Given the description of an element on the screen output the (x, y) to click on. 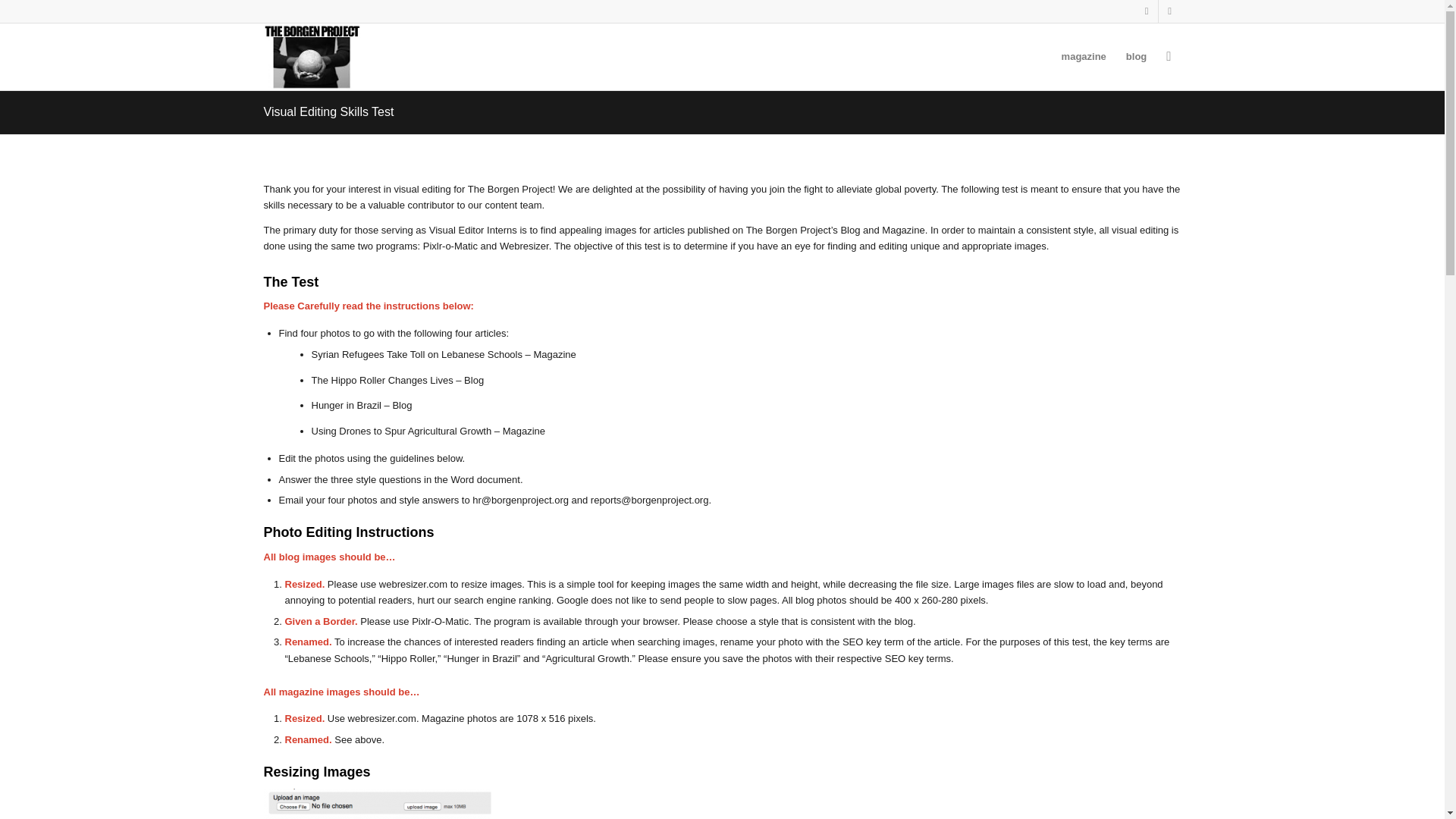
Facebook (1169, 11)
magazine (1083, 56)
blog (1136, 56)
Permanent Link: Visual Editing Skills Test (328, 111)
Visual Editing Skills Test (328, 111)
Twitter (1146, 11)
